Given the description of an element on the screen output the (x, y) to click on. 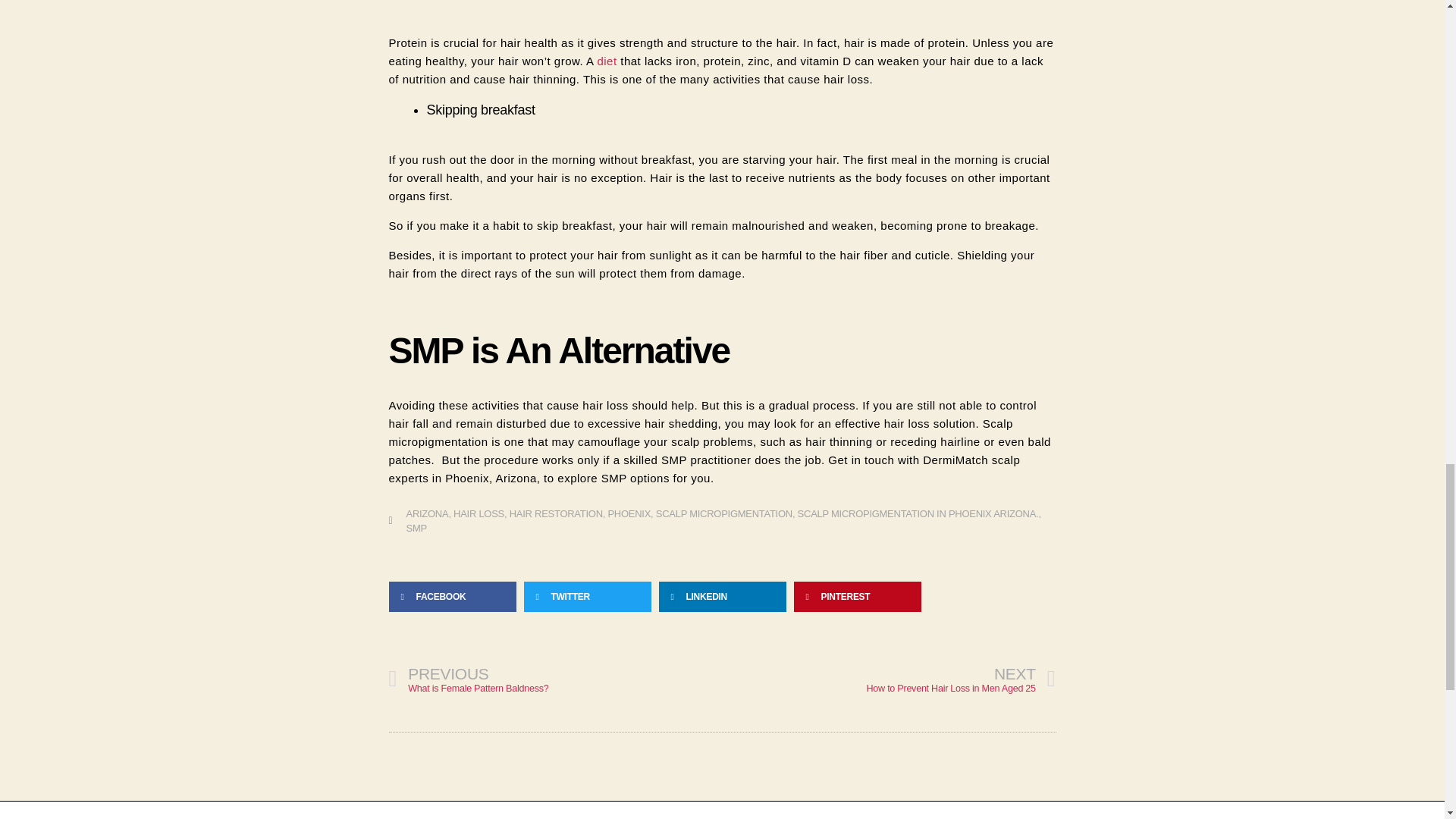
HAIR LOSS (477, 513)
PHOENIX (628, 513)
ARIZONA (427, 513)
SCALP MICROPIGMENTATION (724, 513)
SCALP MICROPIGMENTATION IN PHOENIX ARIZONA. (888, 679)
HAIR RESTORATION (555, 679)
diet (918, 513)
SMP (555, 513)
